Given the description of an element on the screen output the (x, y) to click on. 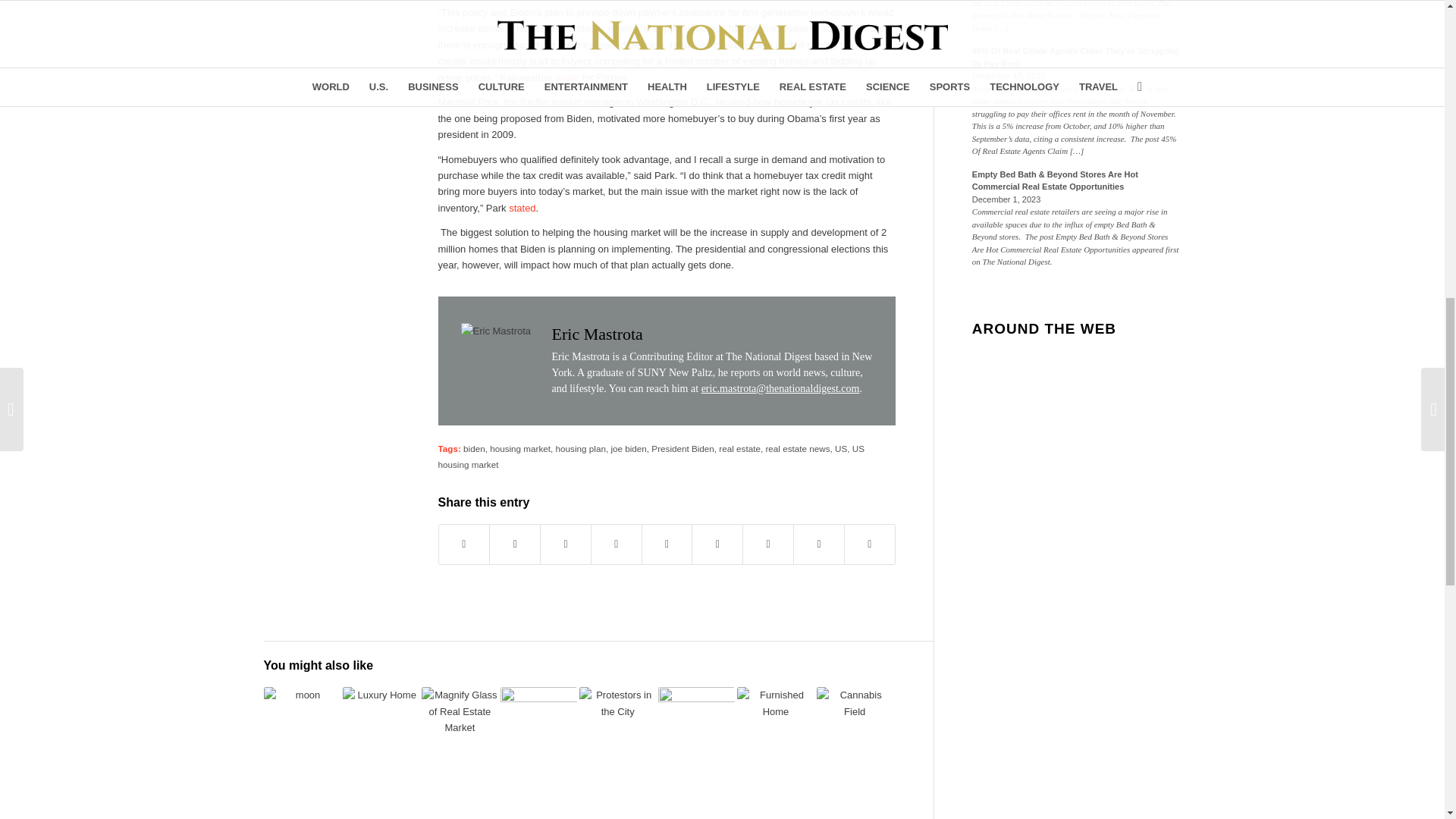
real estate news (797, 448)
wrote (566, 77)
stated (521, 207)
housing plan (580, 448)
joe biden (628, 448)
President Biden (682, 448)
real estate (739, 448)
biden (473, 448)
housing market (519, 448)
Eric Mastrota (597, 333)
